Given the description of an element on the screen output the (x, y) to click on. 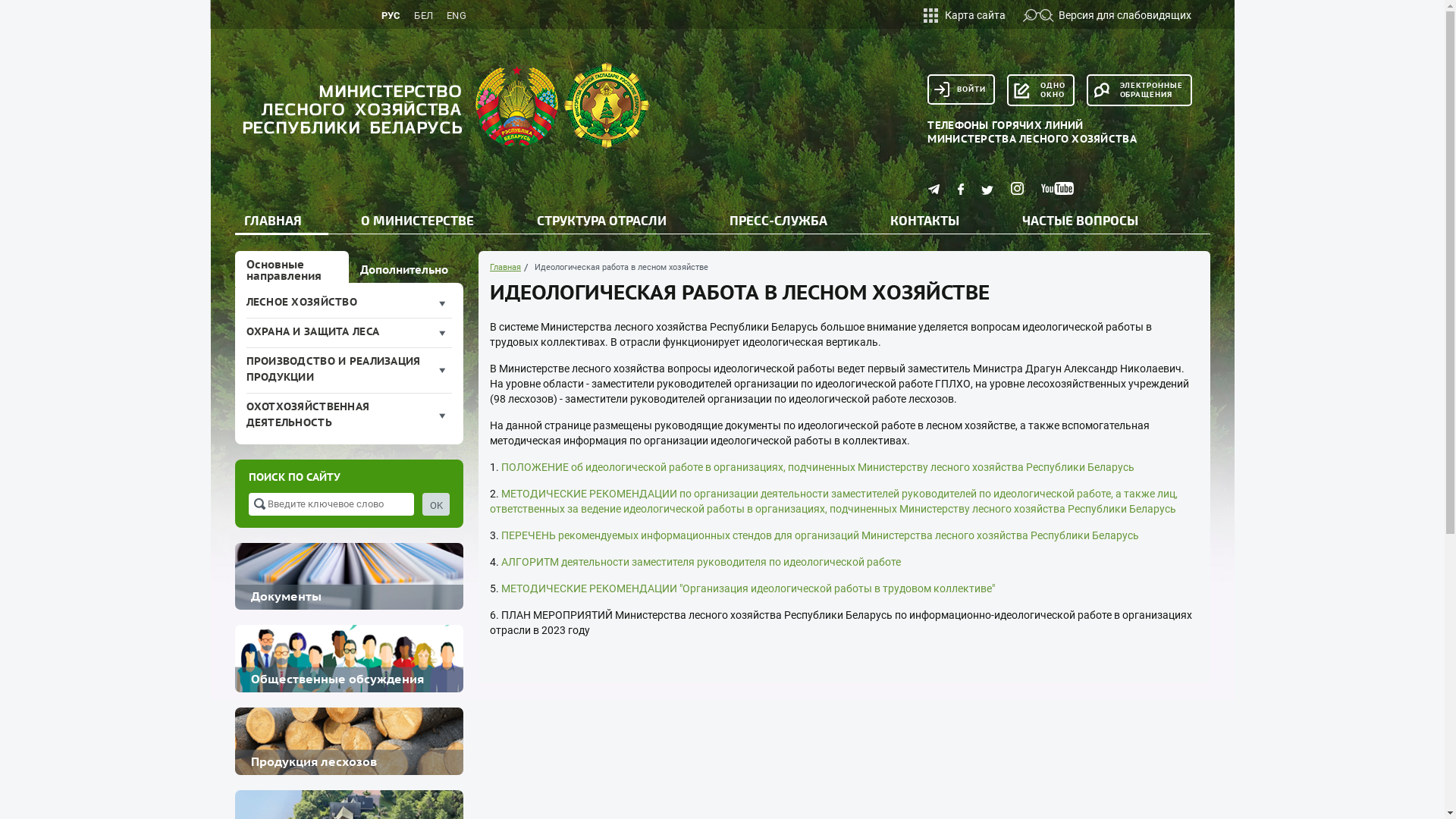
OK Element type: text (435, 503)
ENG Element type: text (456, 16)
